Given the description of an element on the screen output the (x, y) to click on. 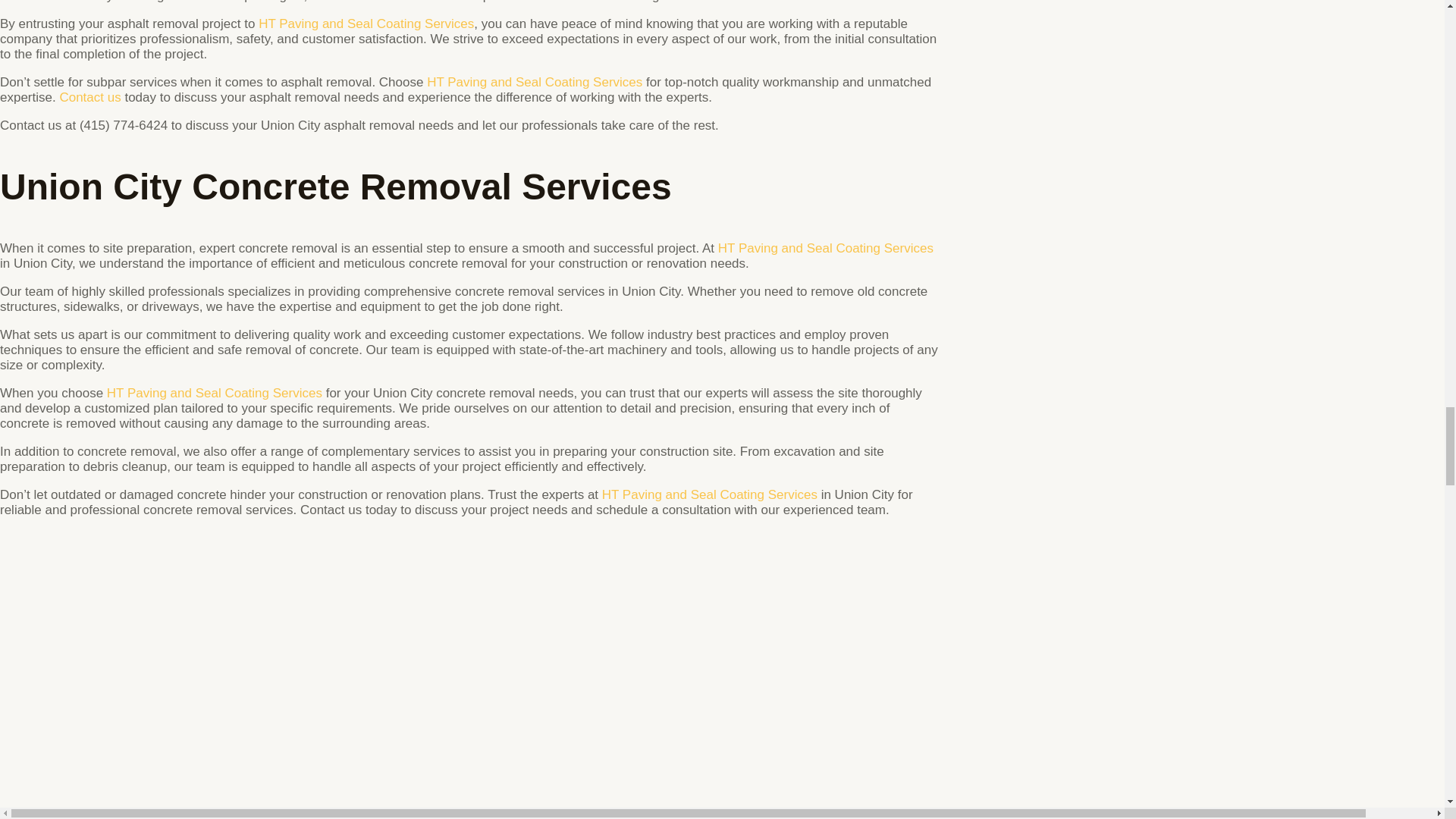
Learn More! (825, 247)
Learn More! (366, 23)
Contact us (89, 97)
Learn More! (534, 82)
